Given the description of an element on the screen output the (x, y) to click on. 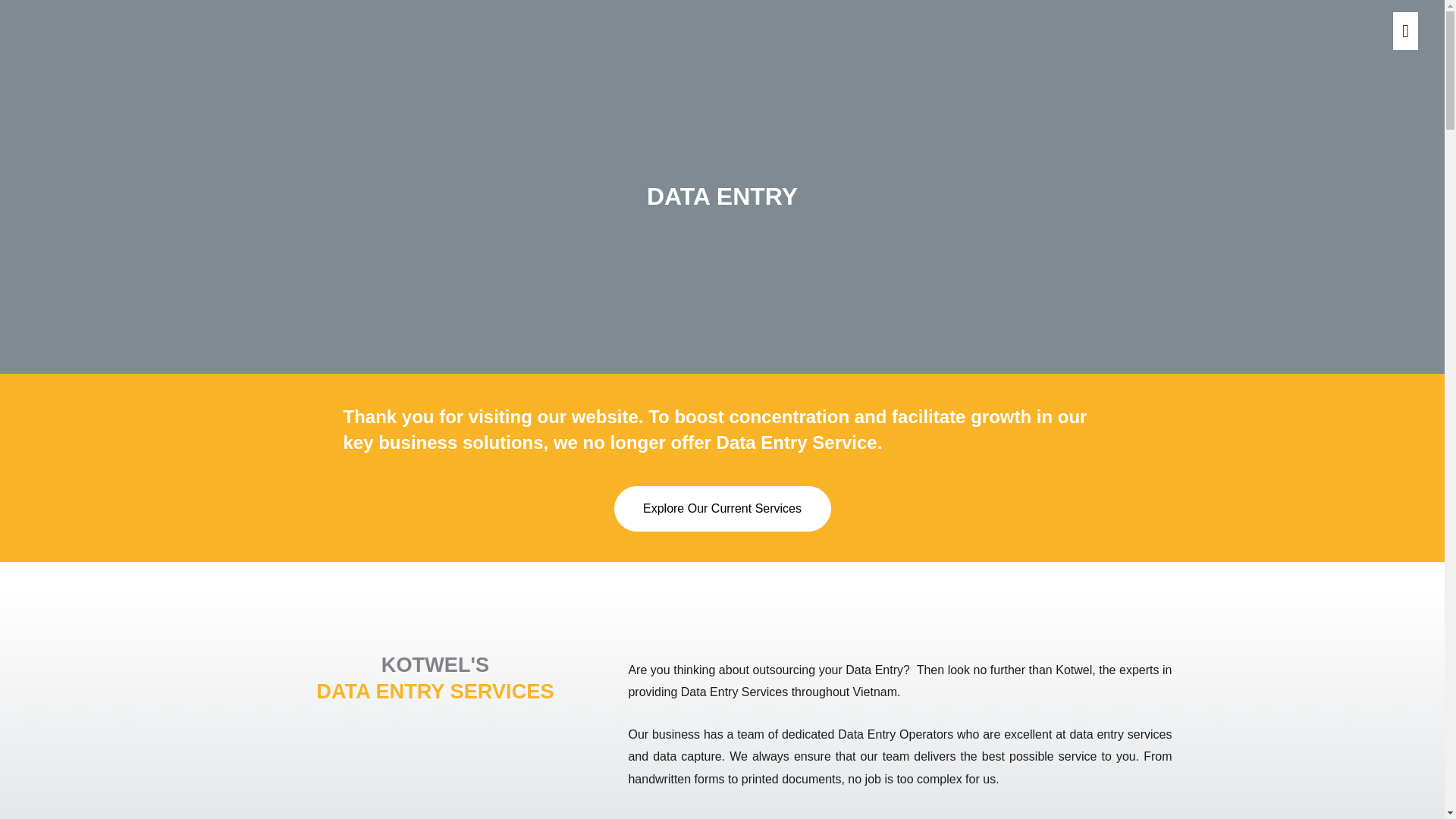
Click Here (722, 508)
data background (435, 776)
